Given the description of an element on the screen output the (x, y) to click on. 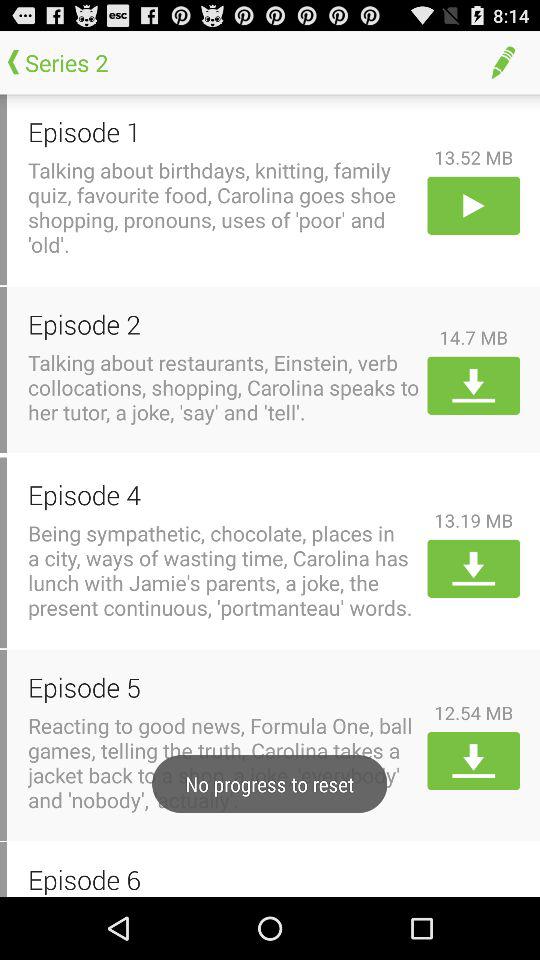
select the icon next to the 14.7 mb item (224, 323)
